Given the description of an element on the screen output the (x, y) to click on. 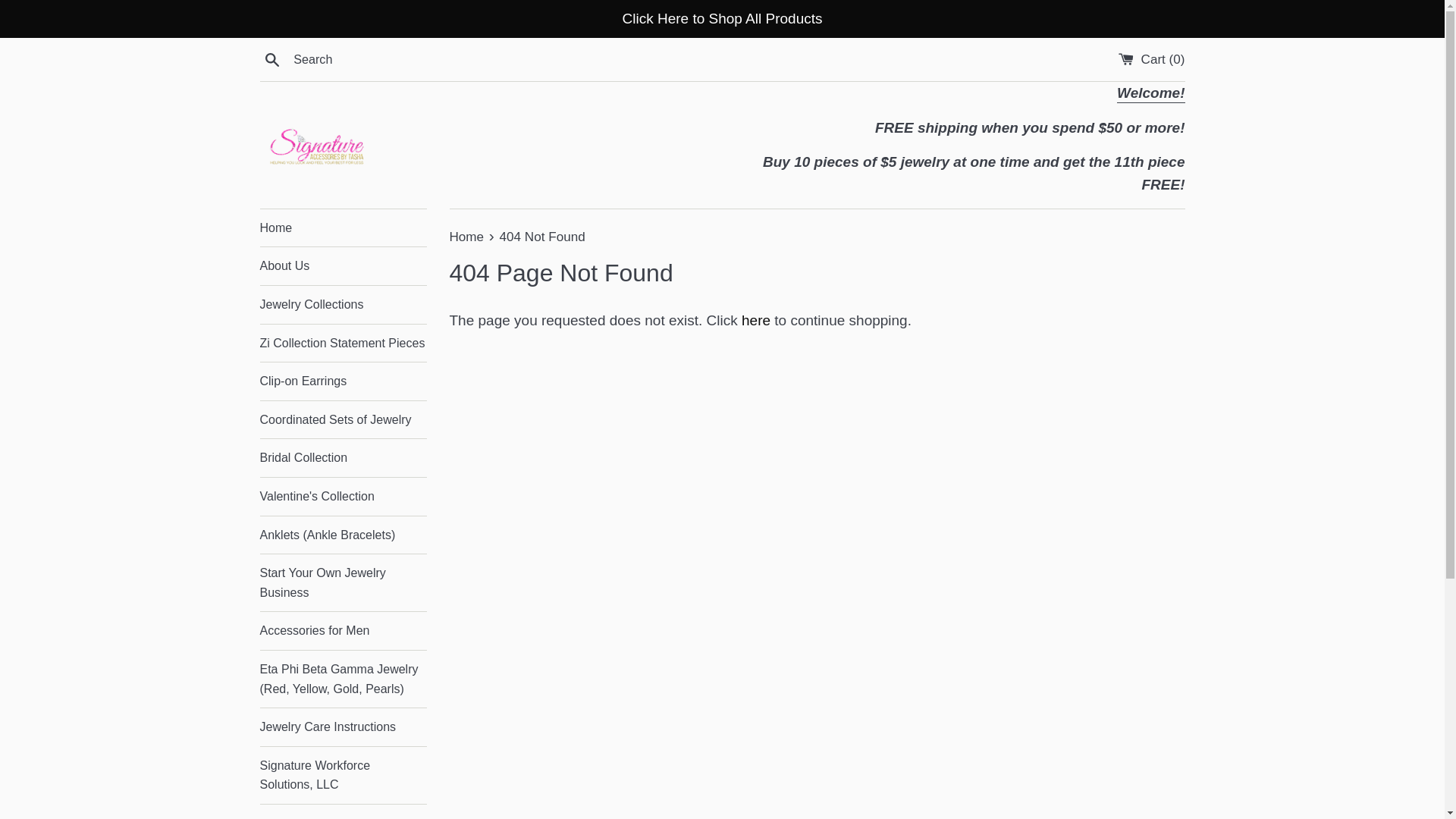
All products (1150, 94)
Back to the frontpage (467, 237)
Start Your Own Jewelry Business (342, 582)
Jewelry Collections (342, 304)
Clip-on Earrings (342, 381)
Jewelry Care Instructions (342, 727)
Zi Collection Statement Pieces (342, 343)
Valentine's Collection (342, 496)
Accessories for Men (342, 630)
Search (271, 58)
